Given the description of an element on the screen output the (x, y) to click on. 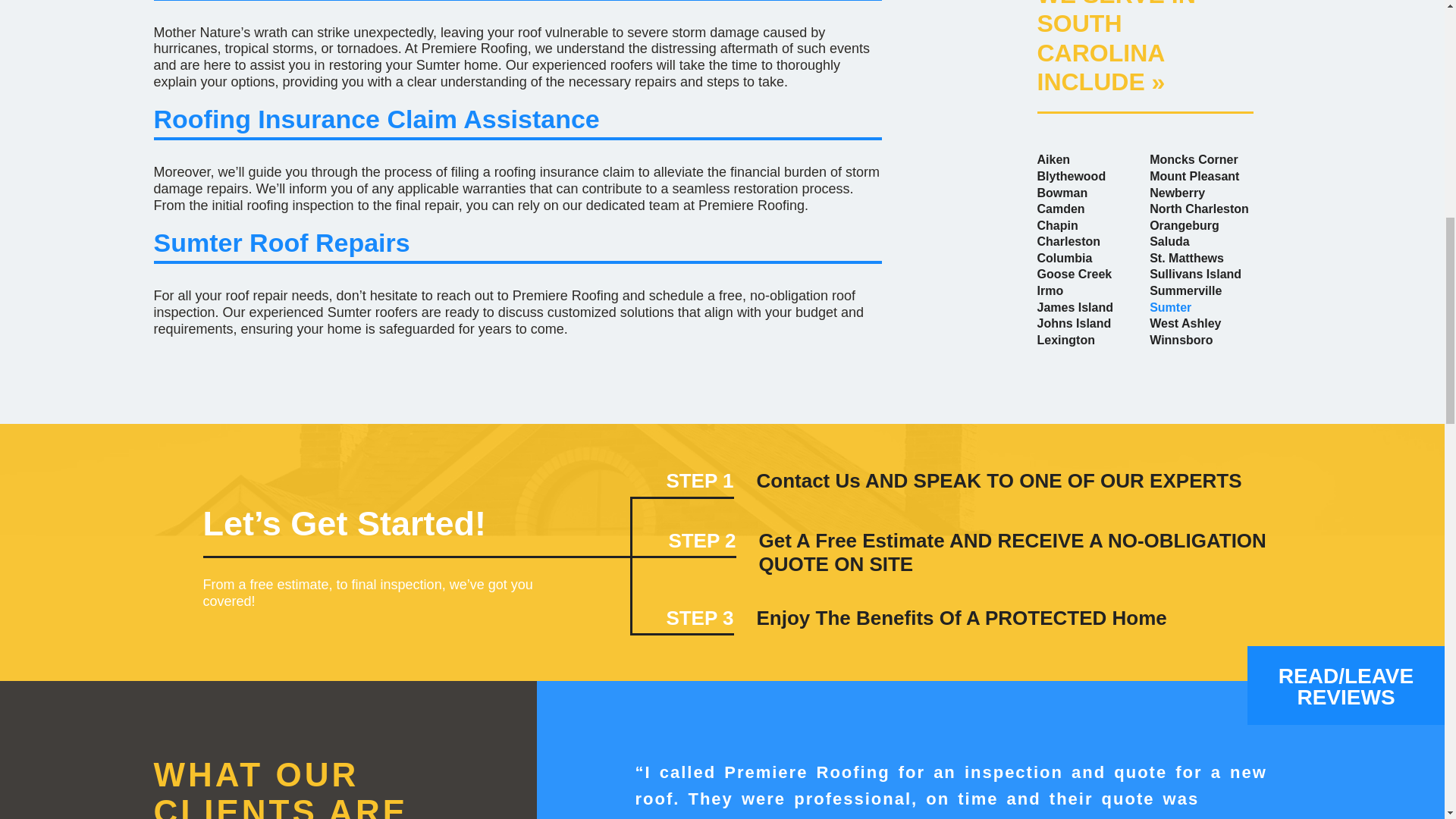
Camden (1060, 208)
Lexington (1065, 339)
Moncks Corner (1193, 159)
James Island (1074, 307)
Irmo (1050, 290)
Blythewood (1071, 175)
Bowman (1061, 192)
Goose Creek (1074, 273)
Aiken (1053, 159)
Charleston (1068, 241)
Johns Island (1074, 323)
Columbia (1064, 257)
Chapin (1057, 225)
